Given the description of an element on the screen output the (x, y) to click on. 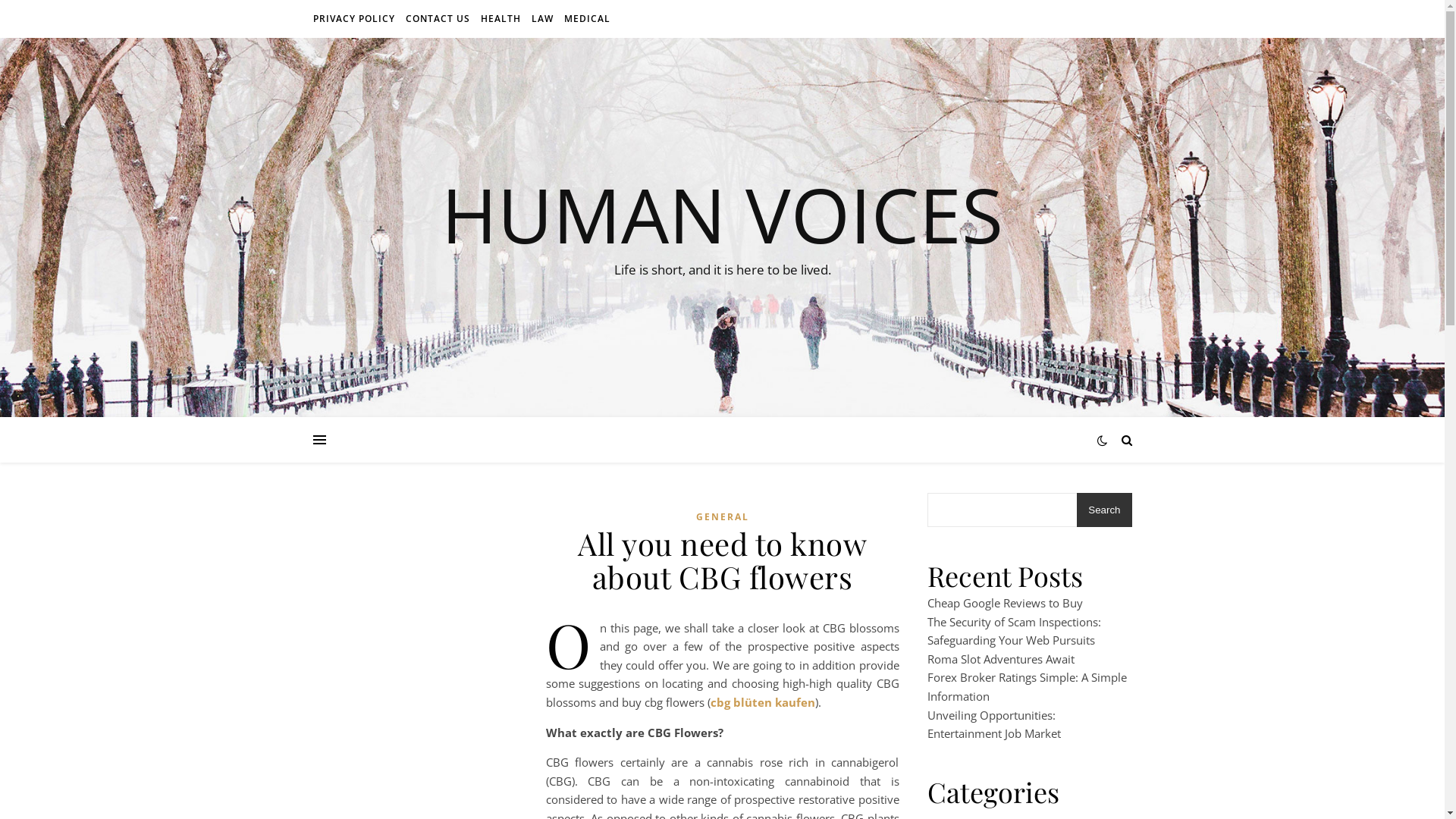
Forex Broker Ratings Simple: A Simple Information Element type: text (1026, 686)
HUMAN VOICES Element type: text (722, 213)
CONTACT US Element type: text (437, 18)
HEALTH Element type: text (500, 18)
GENERAL Element type: text (722, 517)
Search Element type: text (1103, 509)
LAW Element type: text (542, 18)
Cheap Google Reviews to Buy Element type: text (1004, 602)
MEDICAL Element type: text (584, 18)
Unveiling Opportunities: Entertainment Job Market Element type: text (993, 724)
Roma Slot Adventures Await Element type: text (999, 658)
PRIVACY POLICY Element type: text (355, 18)
